Given the description of an element on the screen output the (x, y) to click on. 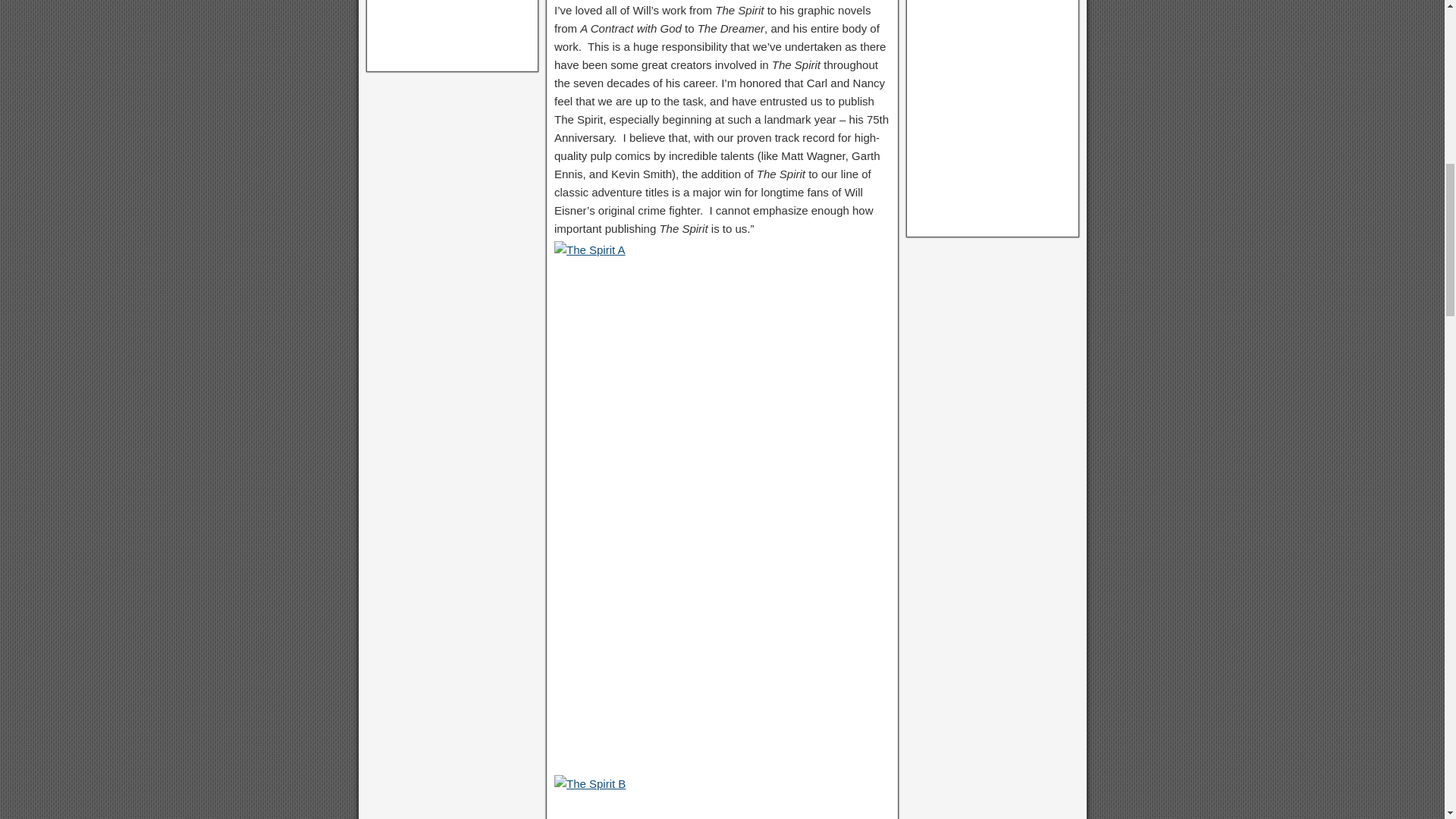
Advertisement (452, 32)
